Given the description of an element on the screen output the (x, y) to click on. 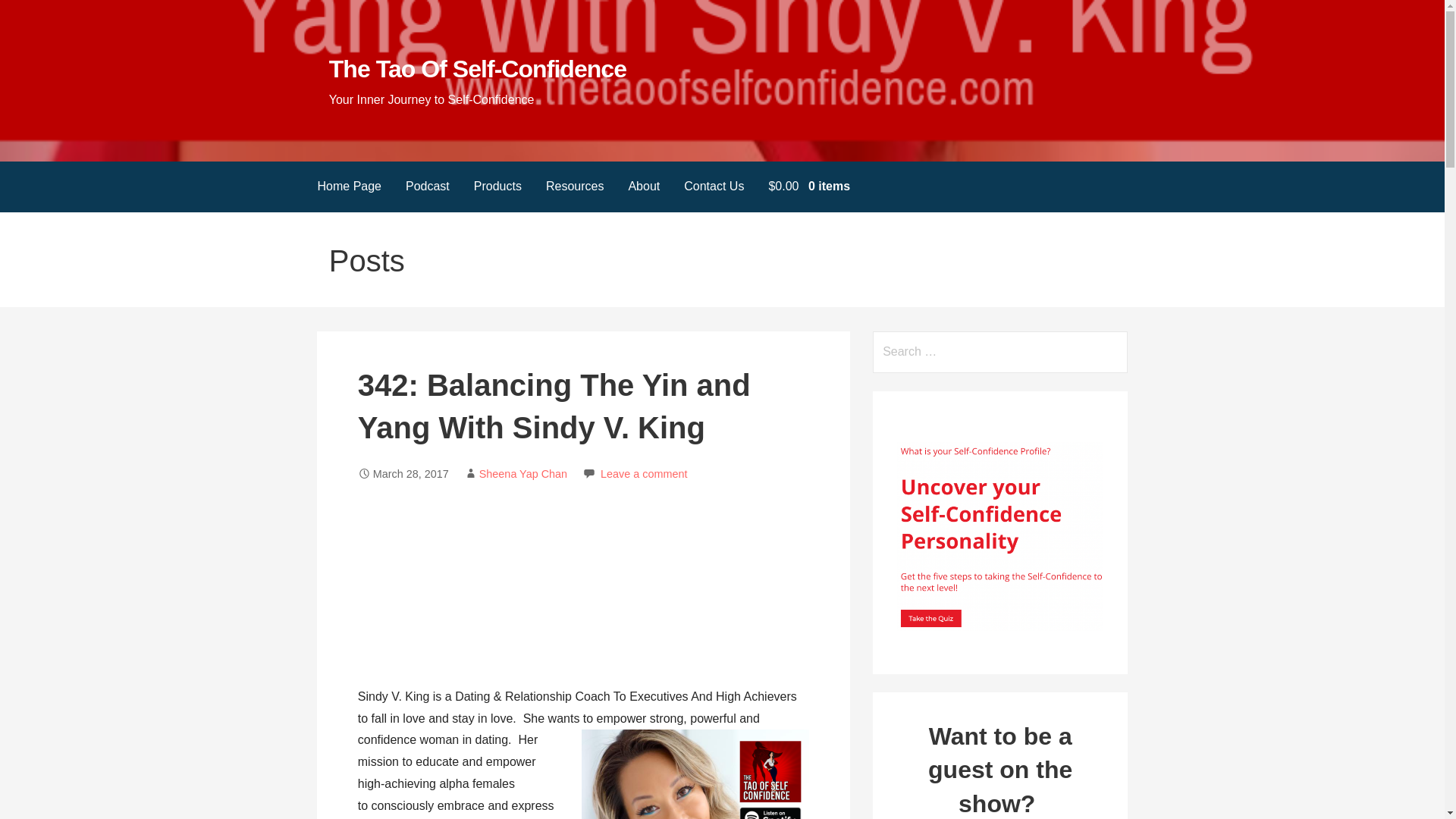
Home Page (348, 186)
The Tao Of Self-Confidence (477, 68)
Products (497, 186)
About (643, 186)
Resources (574, 186)
Podcast (427, 186)
Contact Us (713, 186)
Posts by Sheena Yap Chan (523, 473)
Sheena Yap Chan (523, 473)
Leave a comment (643, 473)
